Given the description of an element on the screen output the (x, y) to click on. 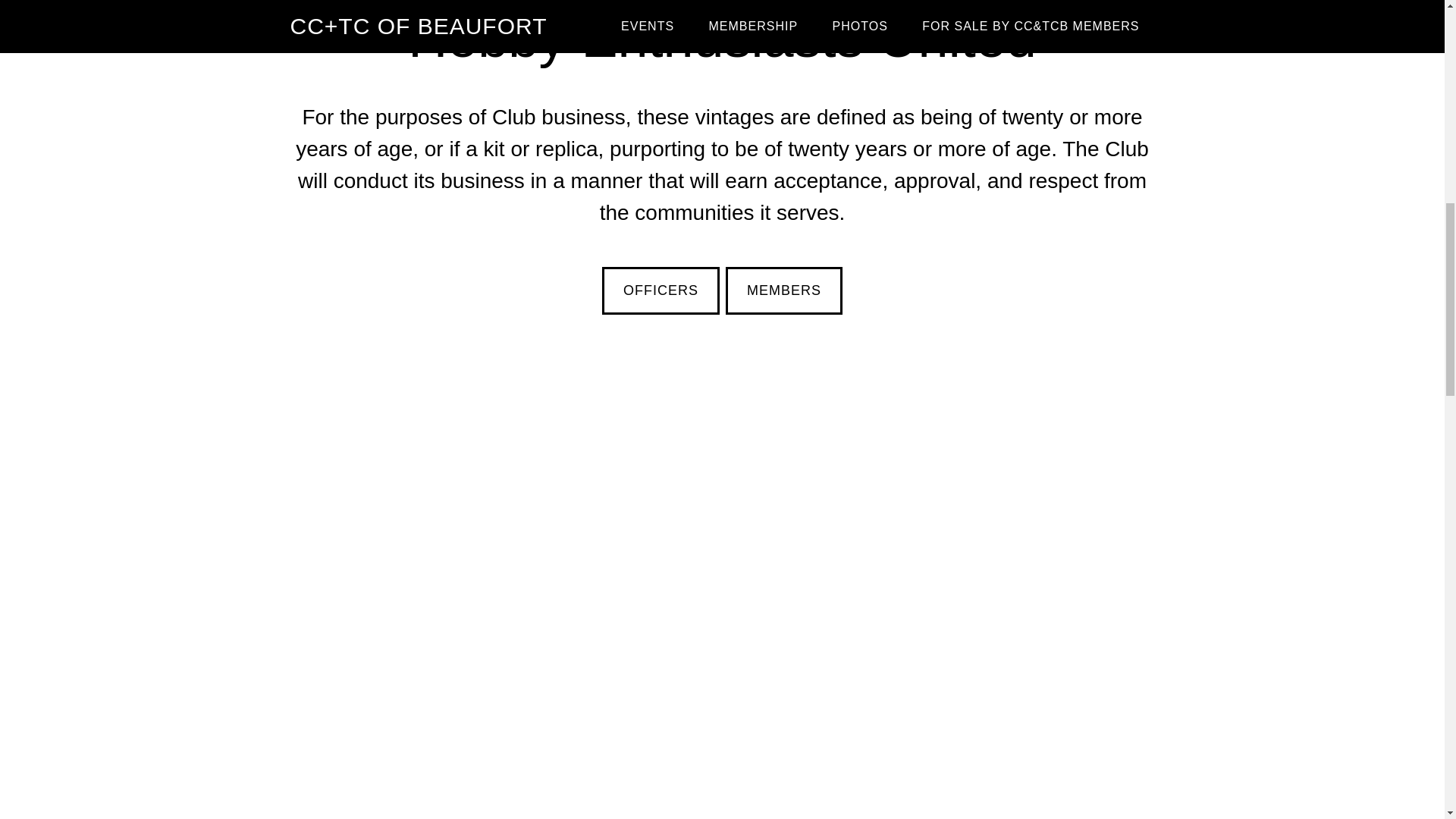
OFFICERS (660, 290)
MEMBERS (784, 290)
NEWS (668, 813)
EVENTS (767, 813)
